Given the description of an element on the screen output the (x, y) to click on. 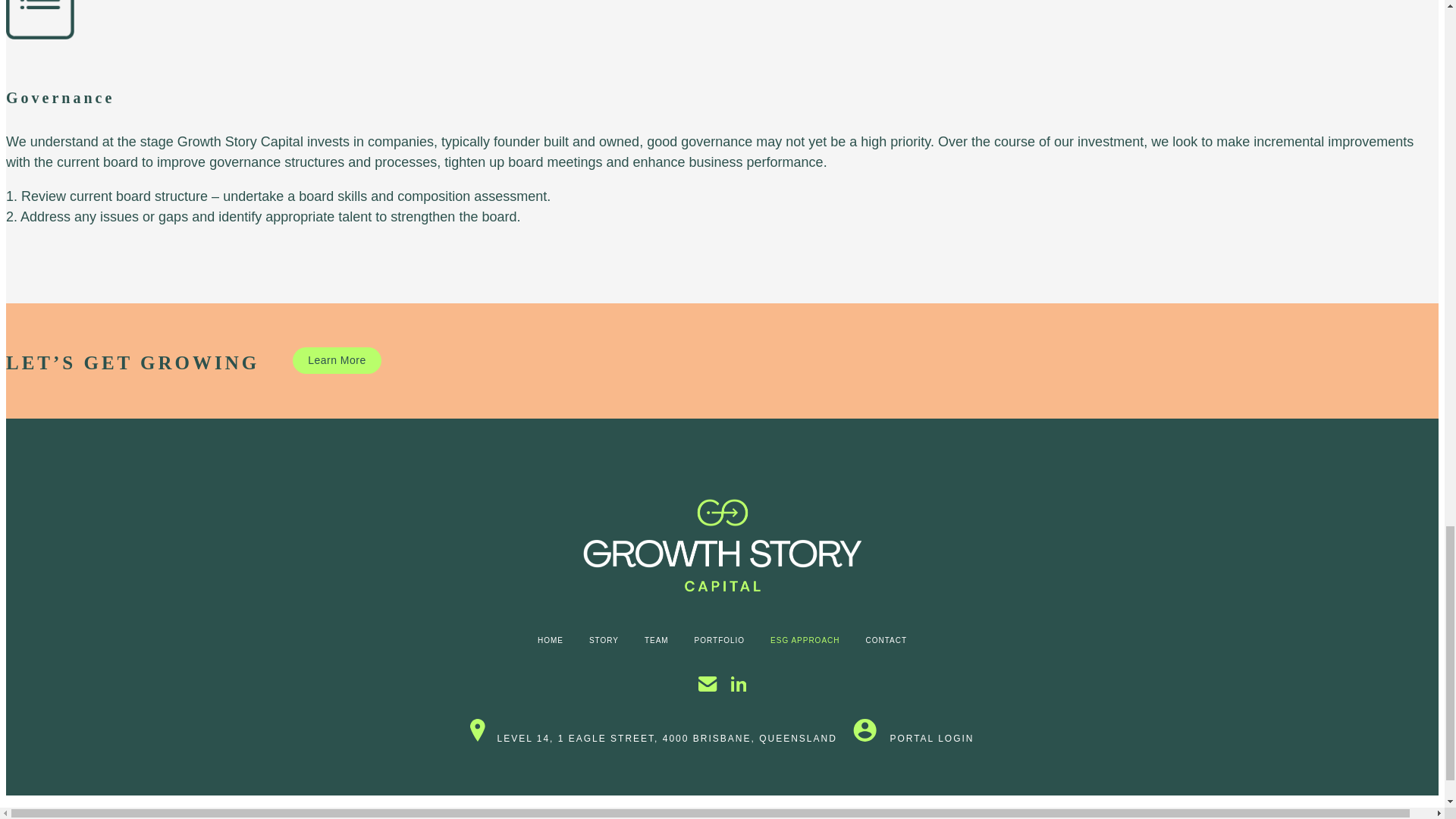
TEAM (656, 640)
Learn More (336, 360)
HOME (550, 640)
CONTACT (885, 640)
LEVEL 14, 1 EAGLE STREET, 4000 BRISBANE, QUEENSLAND (652, 738)
PORTAL LOGIN (912, 738)
ESG APPROACH (804, 640)
PORTFOLIO (719, 640)
STORY (604, 640)
